Given the description of an element on the screen output the (x, y) to click on. 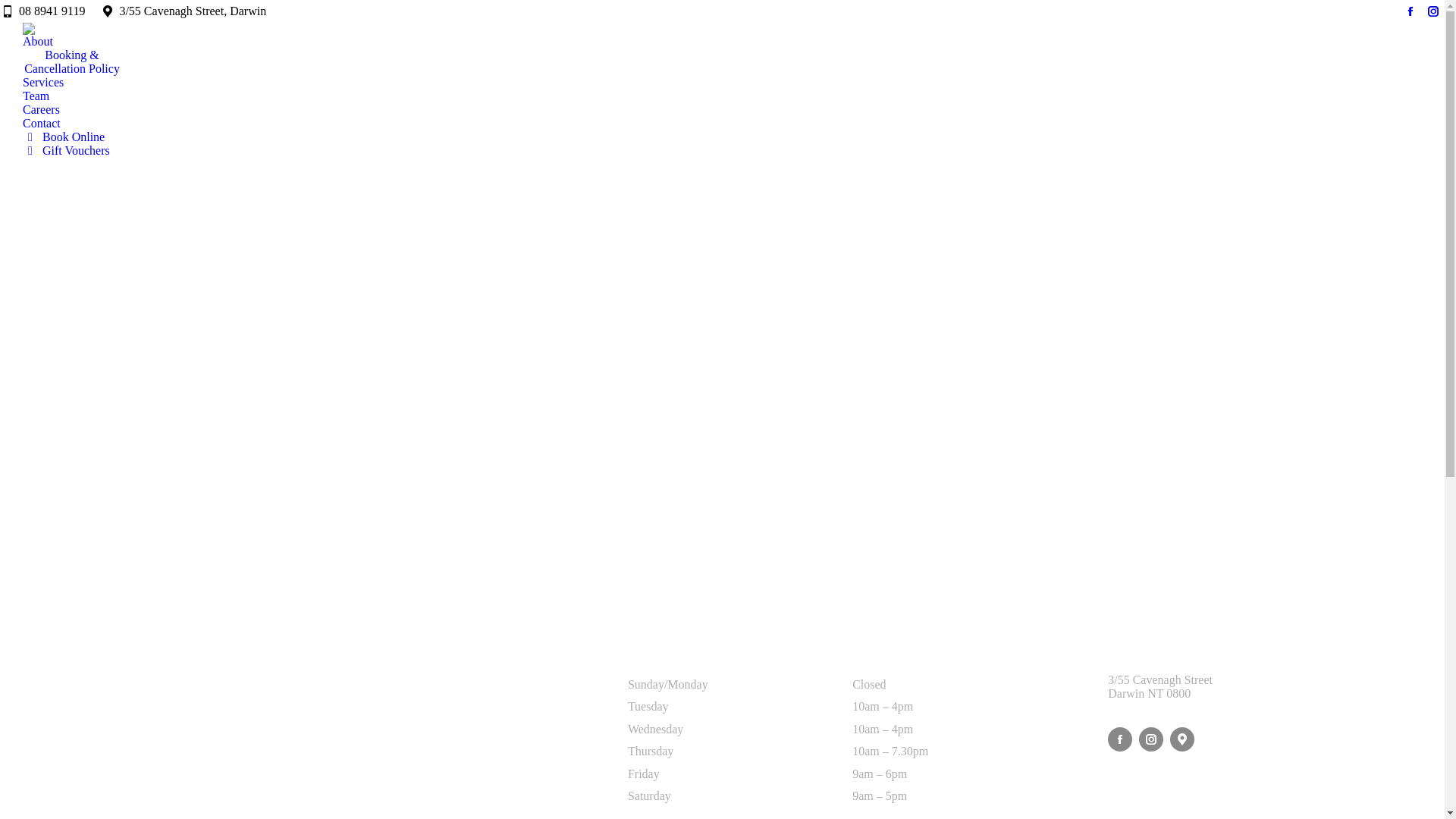
Contact Element type: text (41, 123)
Booking & Cancellation Policy Element type: text (71, 61)
Find on Google Element type: hover (1184, 739)
Team Element type: text (35, 96)
Facebook page opens in new window Element type: text (1410, 11)
Book Online Element type: text (63, 137)
About Element type: text (37, 41)
Gift Vouchers Element type: text (65, 150)
Services Element type: text (42, 82)
Follow on Instagram Element type: hover (1153, 739)
Careers Element type: text (40, 109)
Connect on Facebook Element type: hover (1121, 739)
Instagram page opens in new window Element type: text (1433, 11)
